Given the description of an element on the screen output the (x, y) to click on. 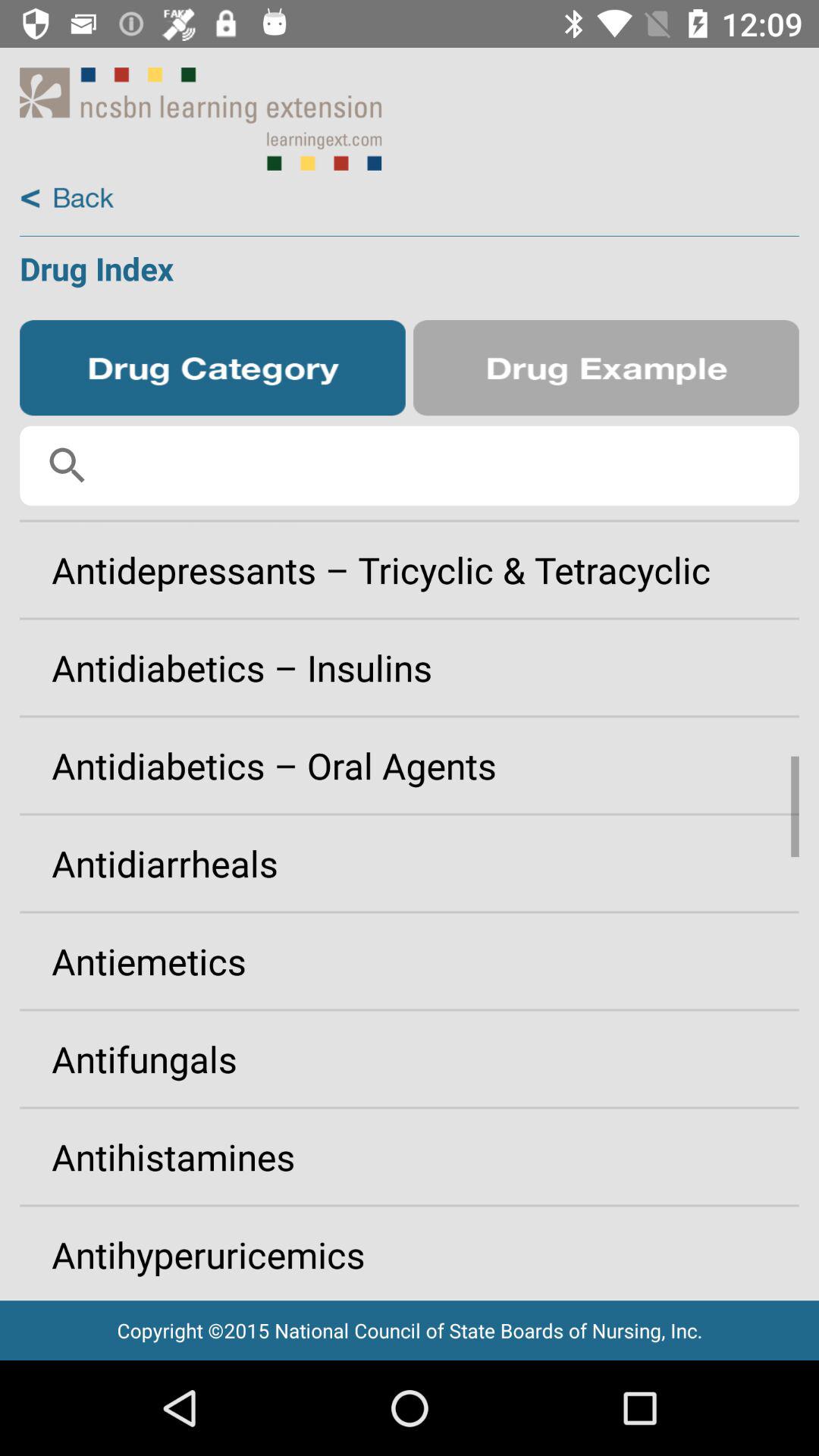
scroll to the antidiarrheals app (409, 863)
